Given the description of an element on the screen output the (x, y) to click on. 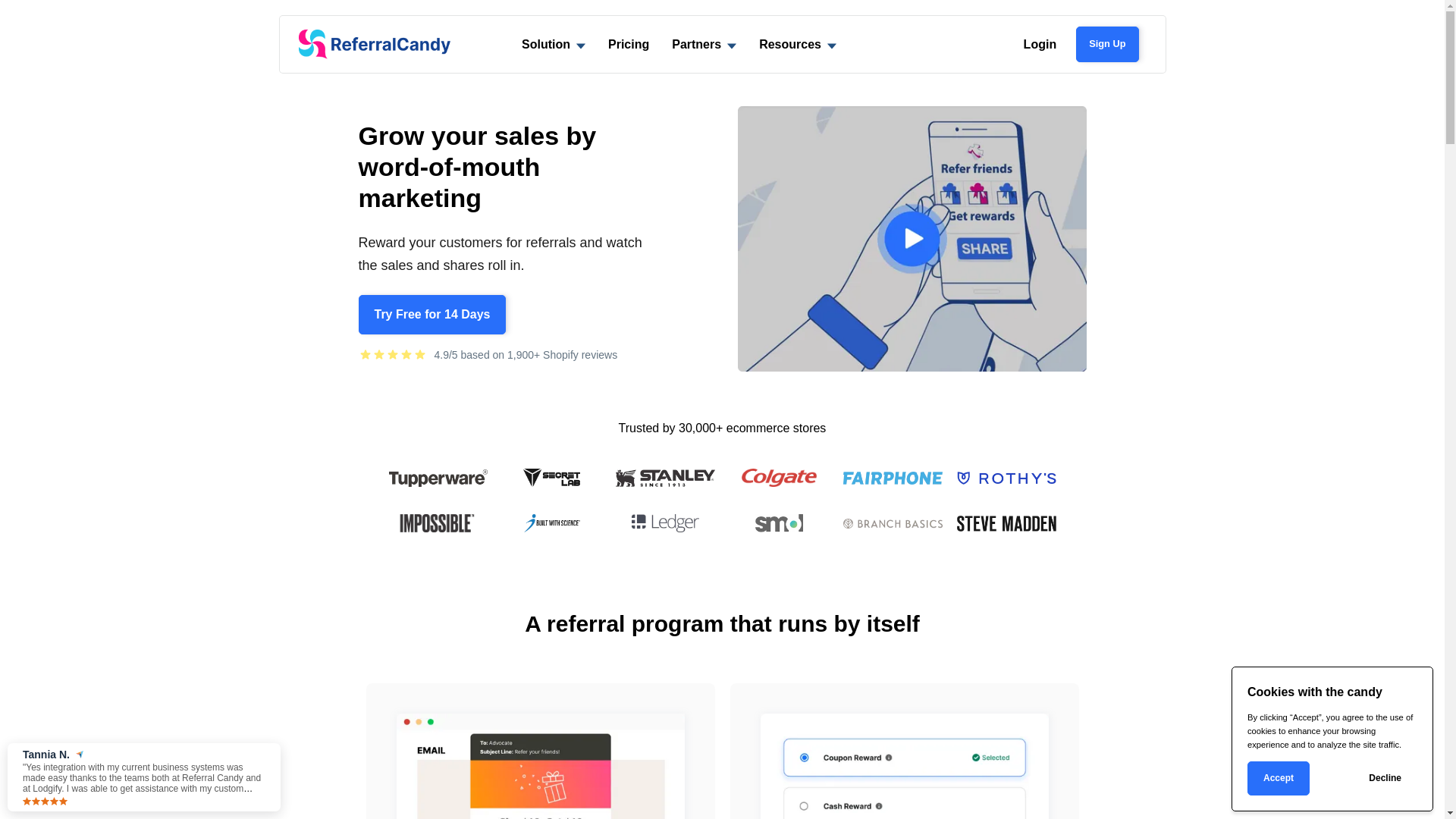
Accept Element type: text (1278, 778)
Decline Element type: text (1384, 778)
Pricing Element type: text (628, 43)
Login Element type: text (1040, 43)
Try Free for 14 Days Element type: text (431, 314)
Sign Up Element type: text (1107, 43)
